Given the description of an element on the screen output the (x, y) to click on. 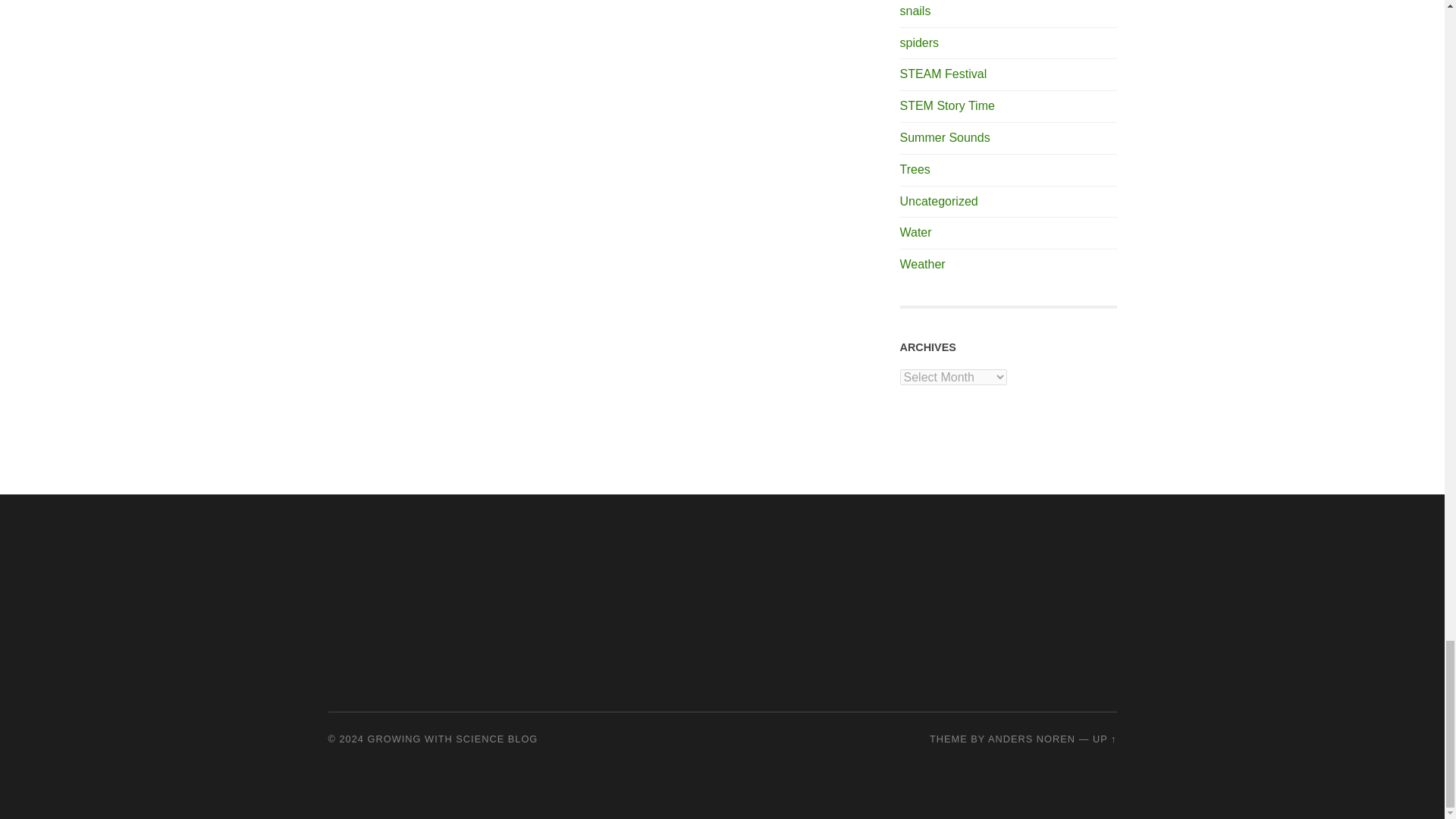
To the top (1104, 738)
